Given the description of an element on the screen output the (x, y) to click on. 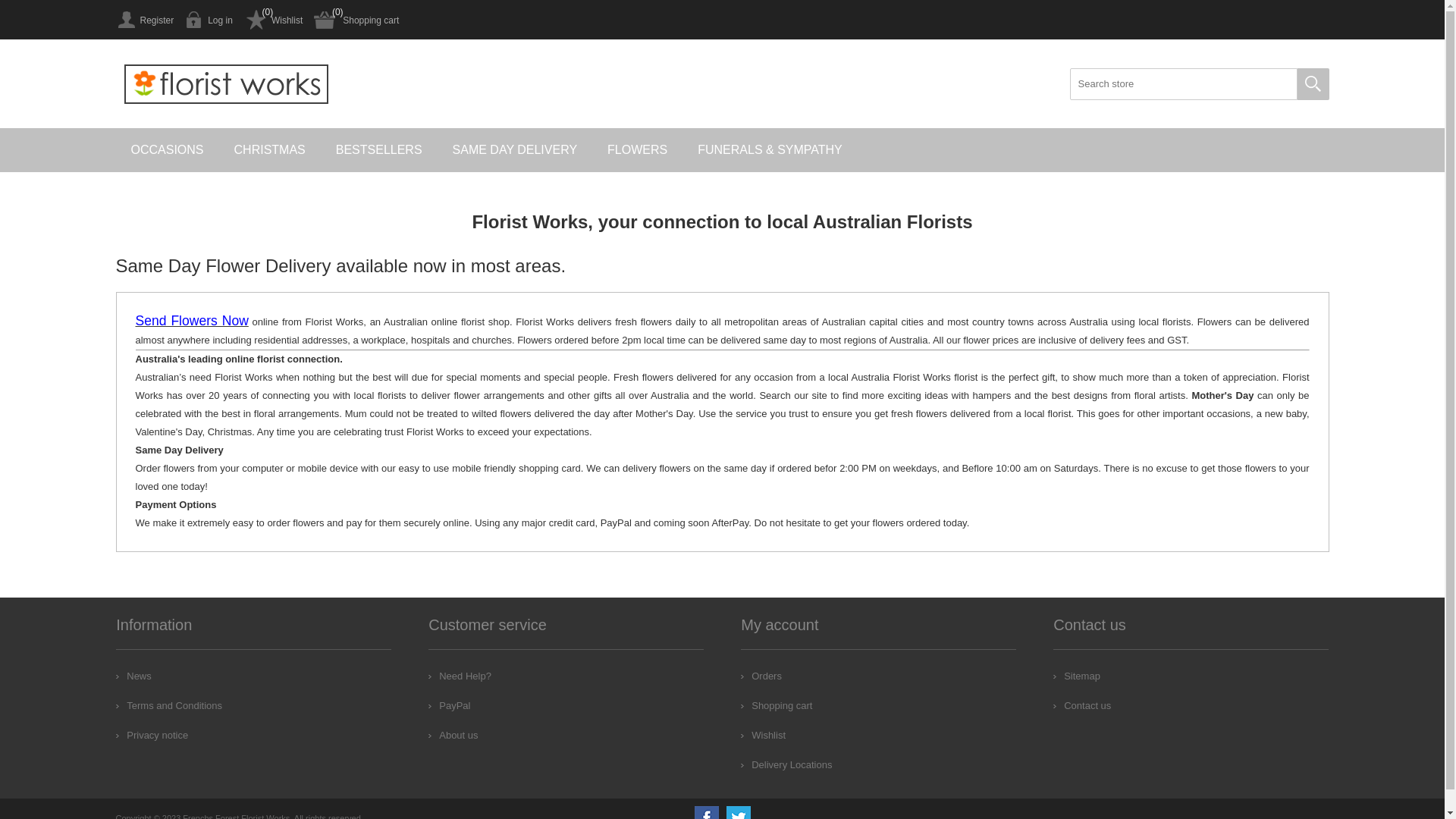
Delivery Locations Element type: text (785, 764)
FUNERALS & SYMPATHY Element type: text (769, 150)
Contact us Element type: text (1081, 705)
Log in Element type: text (208, 19)
Wishlist Element type: text (273, 19)
Shopping cart Element type: text (776, 705)
OCCASIONS Element type: text (166, 150)
Shopping cart Element type: text (355, 19)
About us Element type: text (452, 734)
Orders Element type: text (760, 675)
Send Flowers Now Element type: text (190, 321)
Wishlist Element type: text (762, 734)
SAME DAY DELIVERY Element type: text (515, 150)
FLOWERS Element type: text (637, 150)
Sitemap Element type: text (1076, 675)
CHRISTMAS Element type: text (269, 150)
Search Element type: text (1312, 84)
BESTSELLERS Element type: text (378, 150)
Register Element type: text (144, 19)
News Element type: text (133, 675)
Need Help? Element type: text (459, 675)
Privacy notice Element type: text (152, 734)
PayPal Element type: text (449, 705)
Terms and Conditions Element type: text (169, 705)
